Given the description of an element on the screen output the (x, y) to click on. 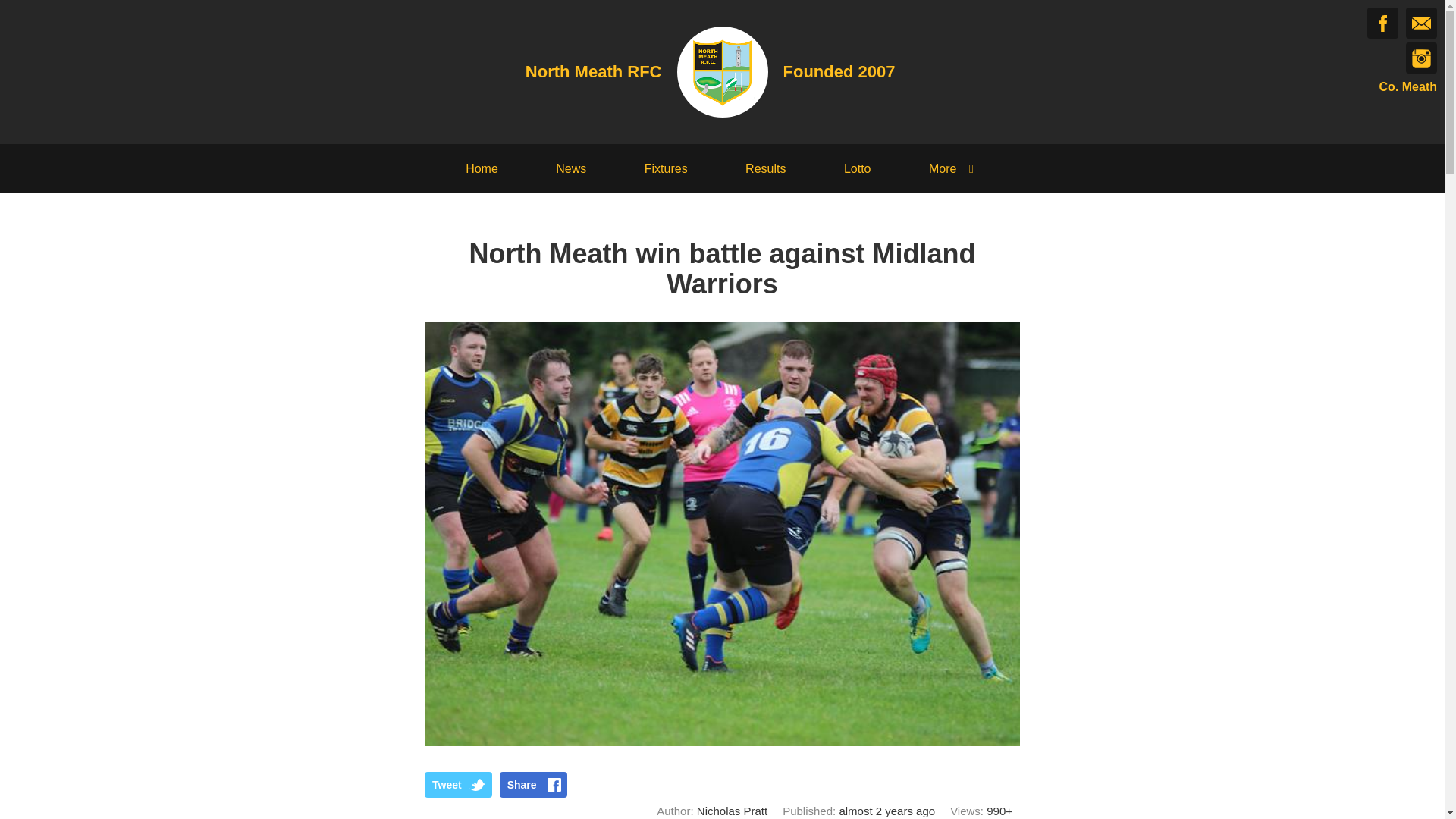
Email (1421, 22)
Home (481, 168)
Instagram (1421, 57)
Lotto (857, 168)
More (953, 168)
Fixtures (665, 168)
Results (765, 168)
Facebook (1382, 22)
News (570, 168)
